Given the description of an element on the screen output the (x, y) to click on. 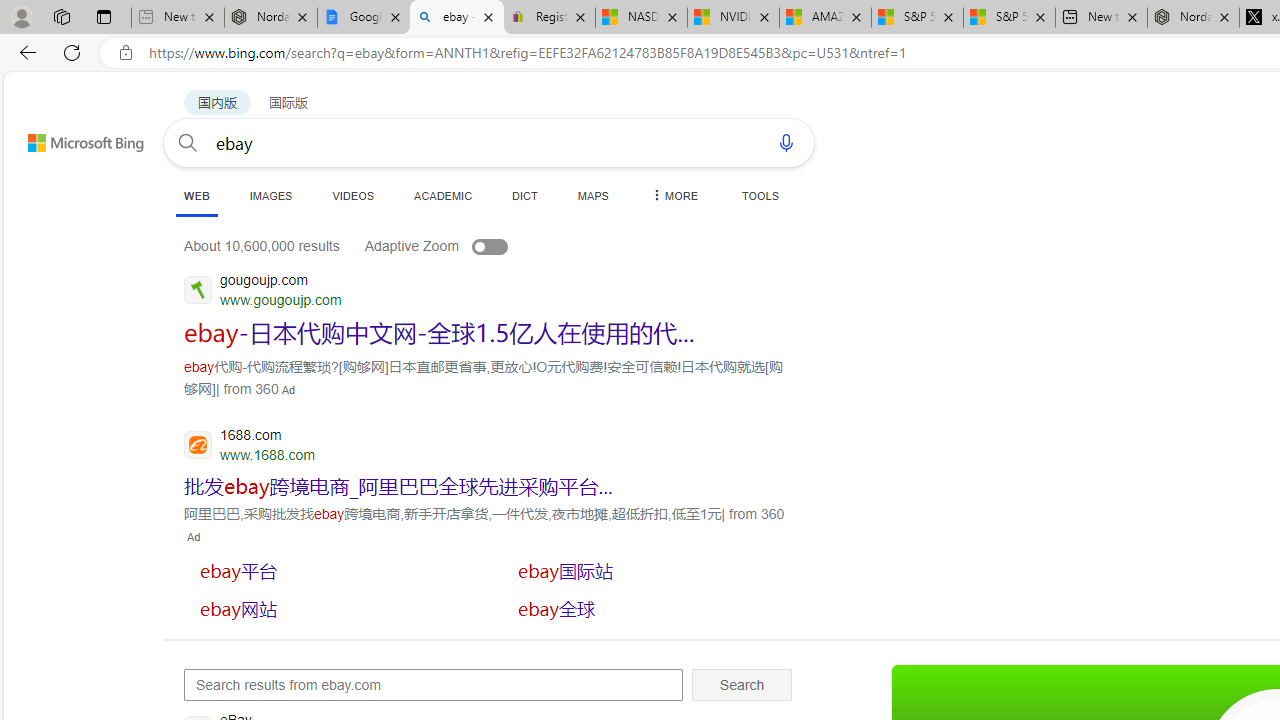
Google Docs: Online Document Editor | Google Workspace (363, 17)
DICT (525, 195)
SERP,5712 (333, 570)
VIDEOS (352, 195)
Search using voice (785, 142)
